Given the description of an element on the screen output the (x, y) to click on. 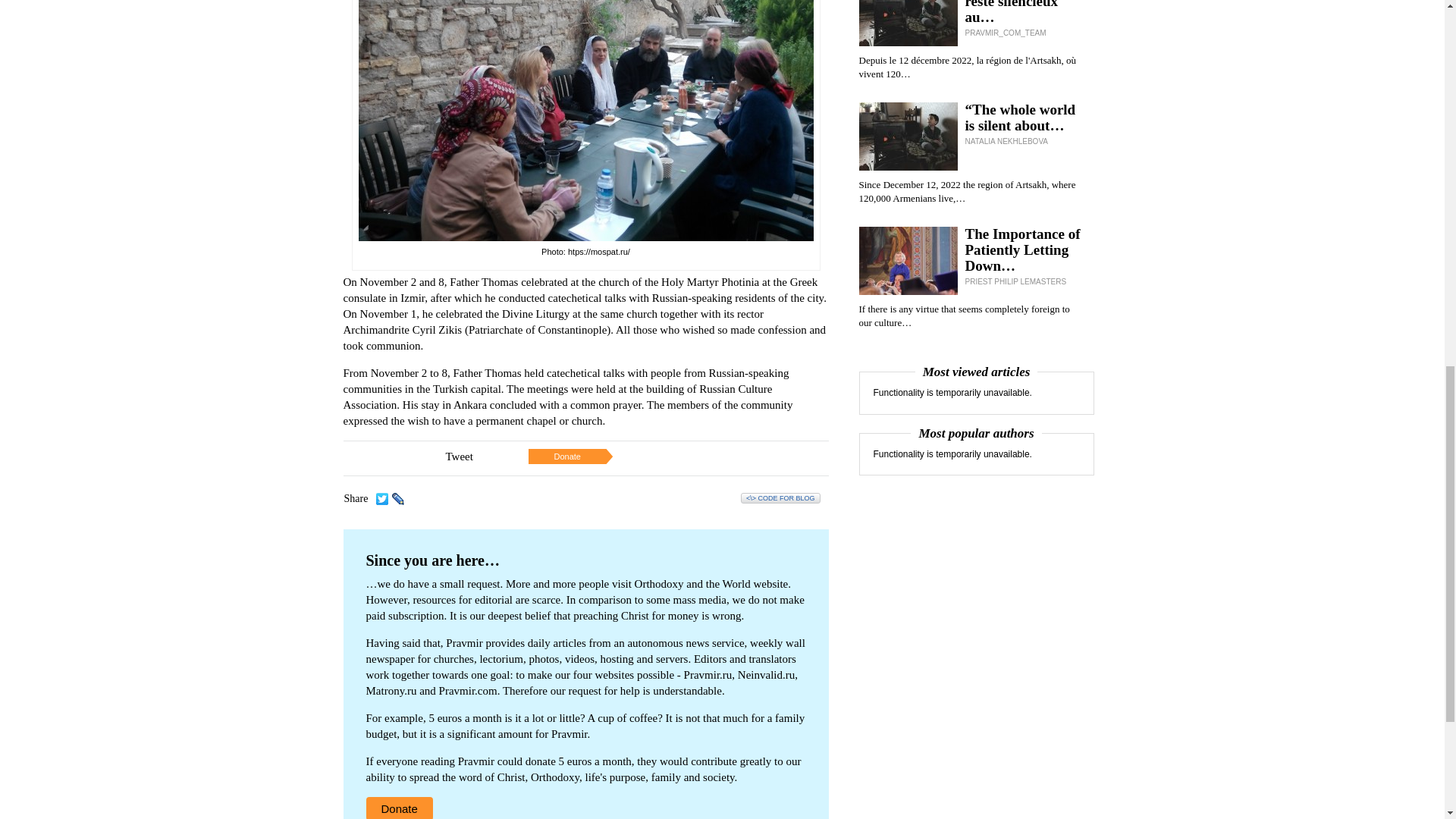
LiveJournal (398, 498)
Twitter (382, 498)
